Given the description of an element on the screen output the (x, y) to click on. 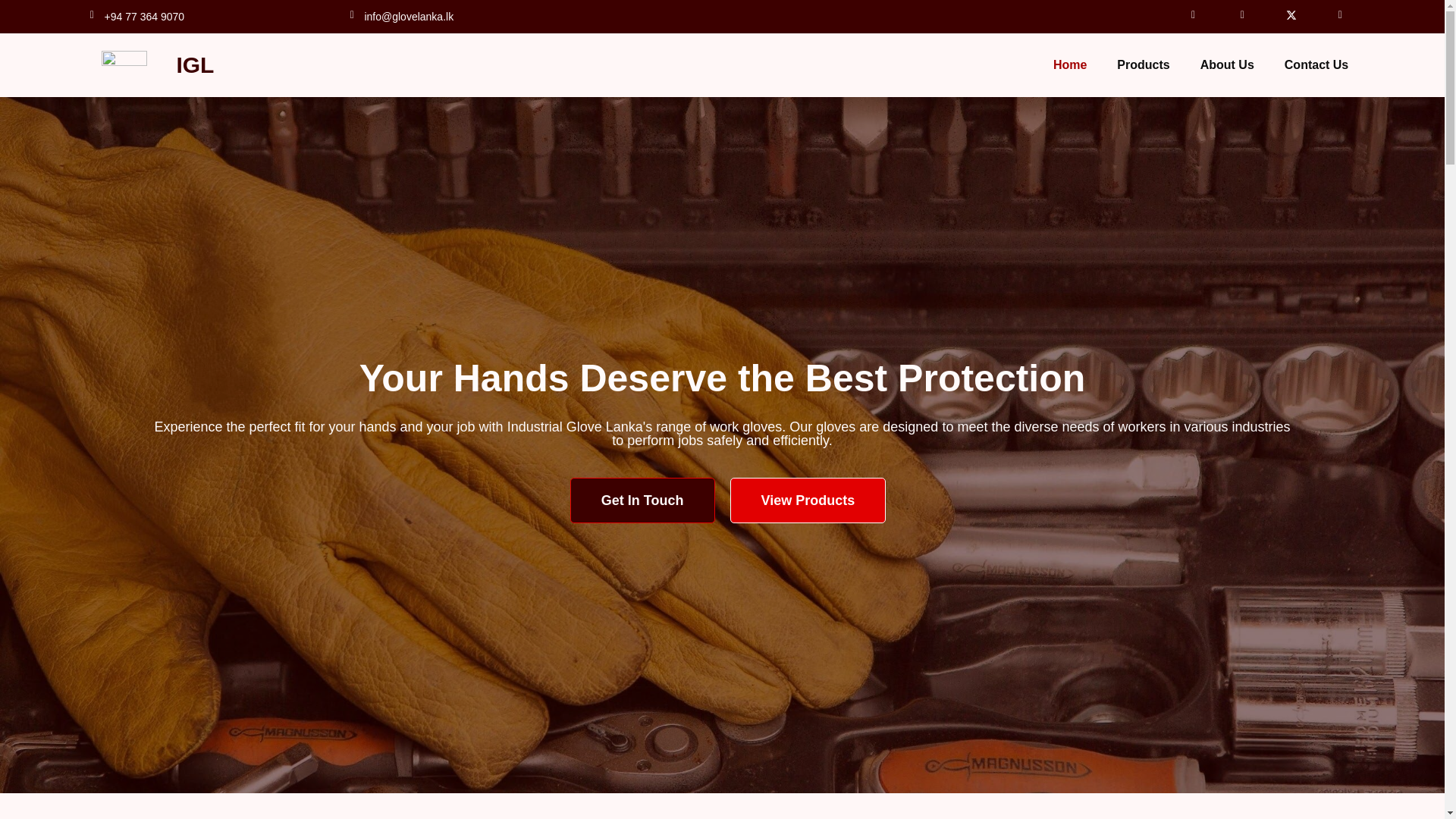
Products (1143, 64)
Home (1070, 64)
IGL (195, 64)
About Us (1227, 64)
Contact Us (1315, 64)
Get In Touch (642, 500)
View Products (807, 500)
